Given the description of an element on the screen output the (x, y) to click on. 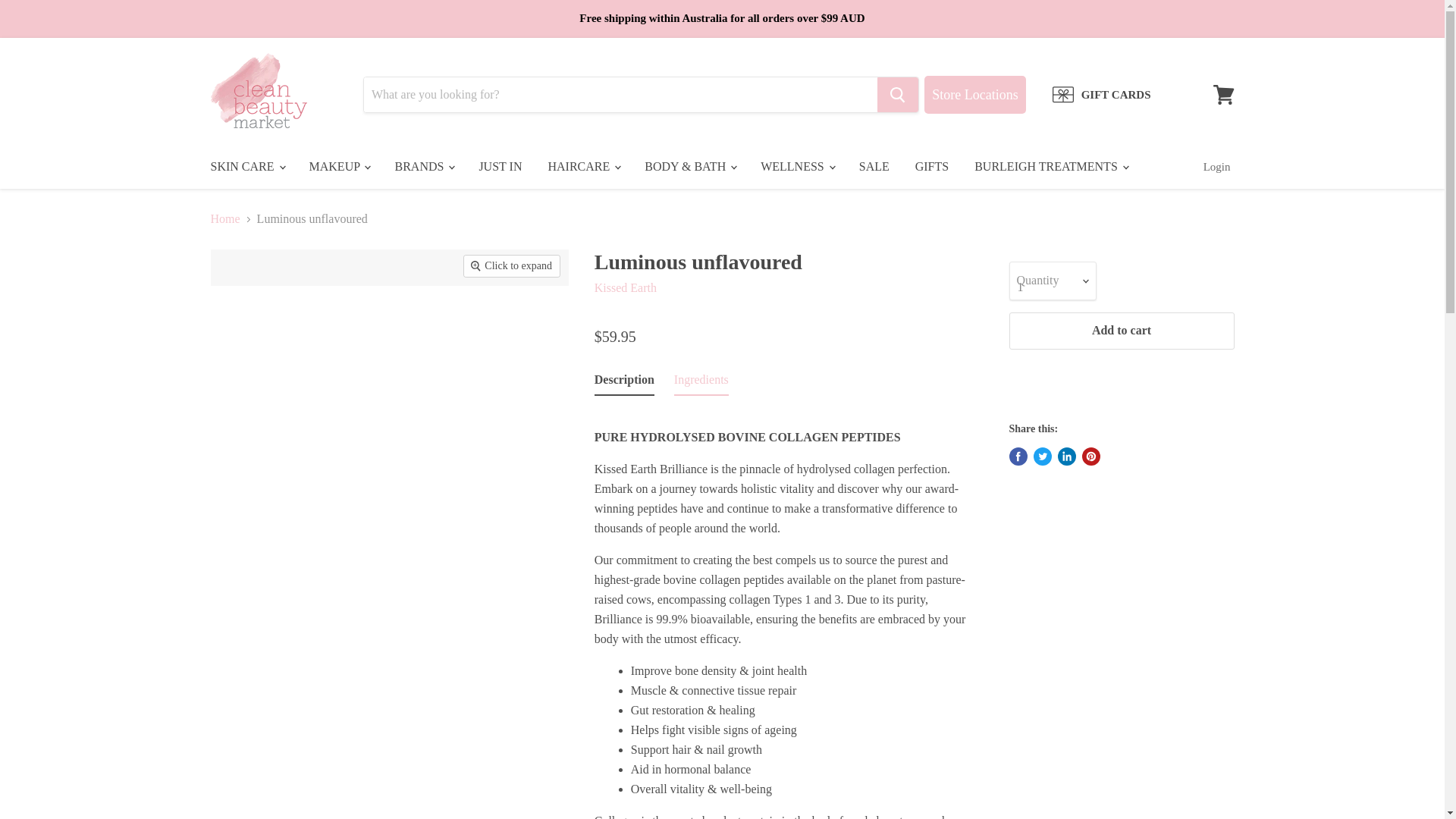
SKIN CARE (246, 166)
Store Locations (974, 94)
View cart (1223, 94)
